Given the description of an element on the screen output the (x, y) to click on. 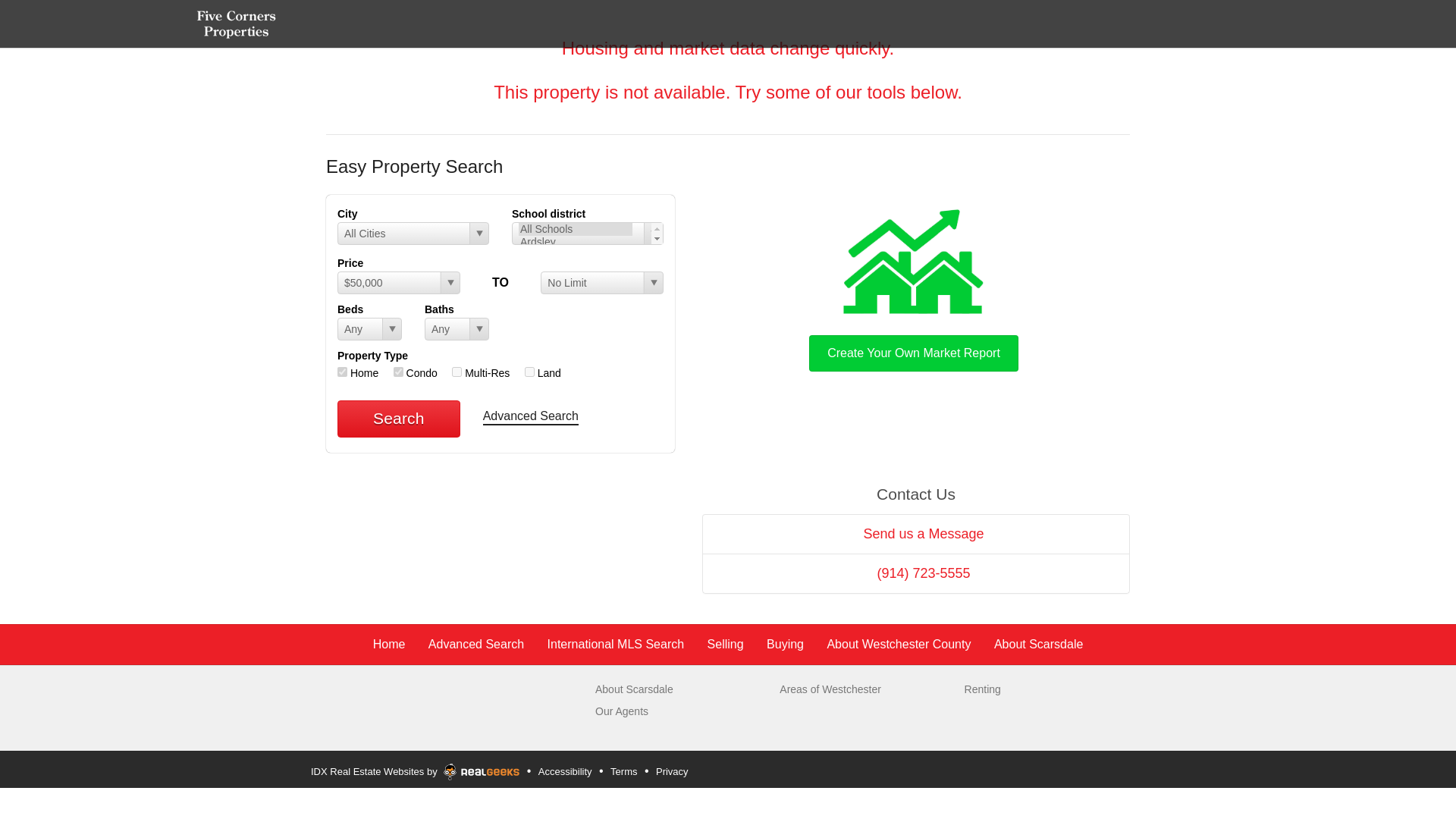
mul (456, 371)
con (398, 371)
Advanced Search (476, 644)
About Westchester County (899, 644)
Selling (725, 644)
Create Your Own Market Report (913, 286)
res (342, 371)
Send us a Message (915, 533)
Our Agents (621, 711)
lnd (529, 371)
